Given the description of an element on the screen output the (x, y) to click on. 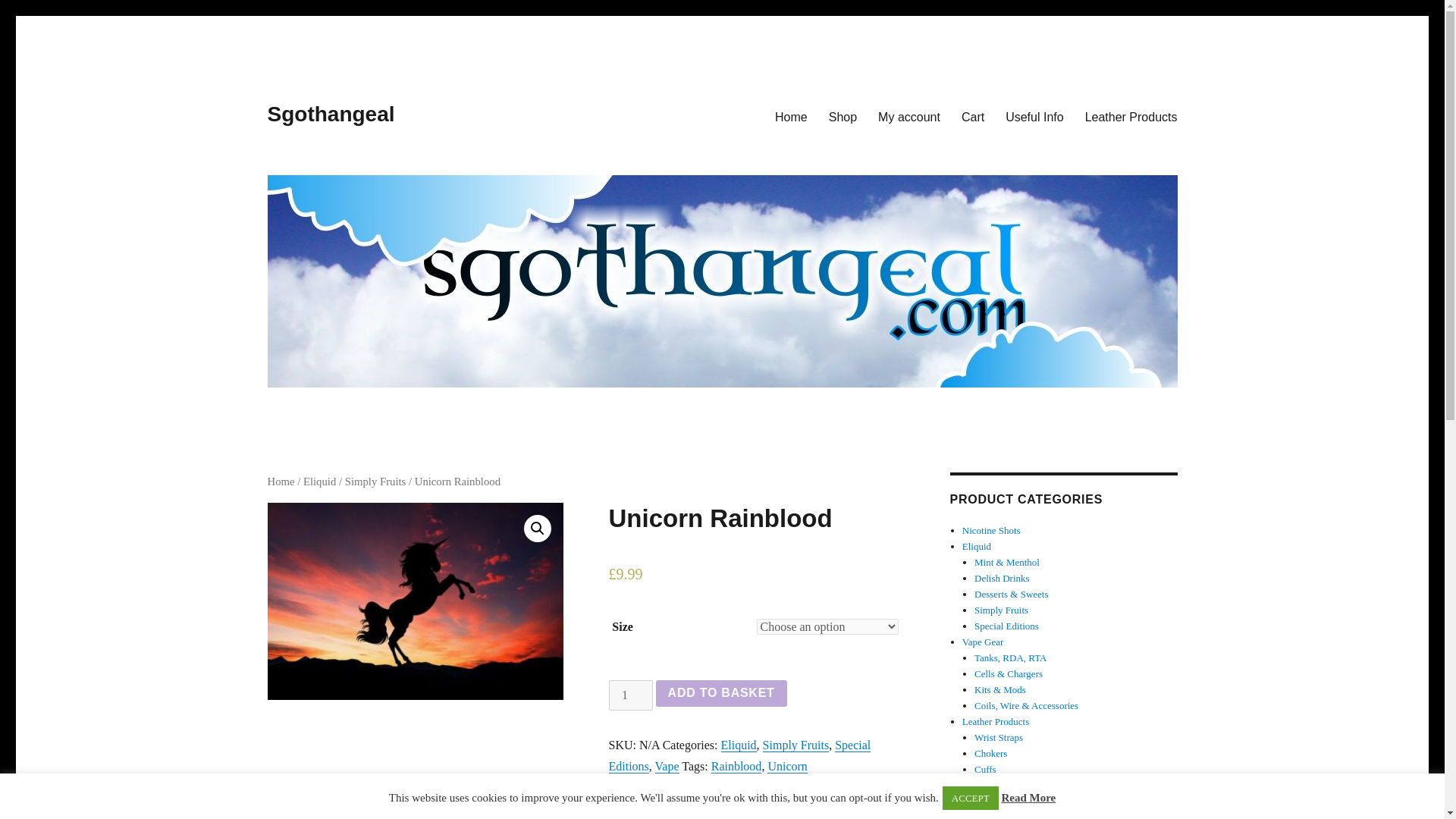
Nicotine Shots (991, 530)
Useful Info (1034, 116)
Sgothangeal (330, 114)
Home (280, 481)
Leather Products (1131, 116)
Shop (842, 116)
Simply Fruits (375, 481)
My account (908, 116)
Rainblood (736, 766)
unicorn-rainblood (414, 600)
